Given the description of an element on the screen output the (x, y) to click on. 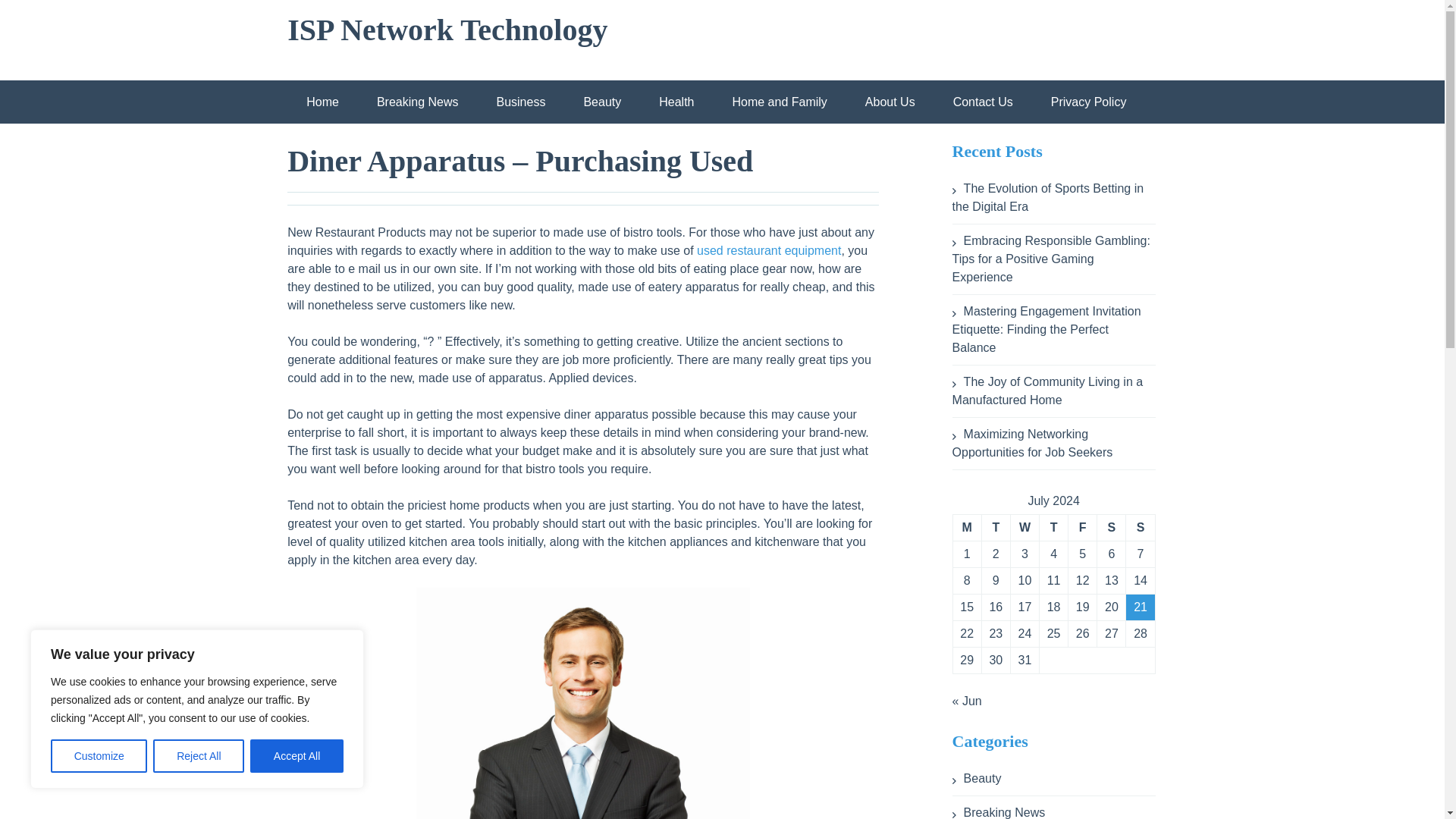
Home (322, 101)
Health (676, 101)
Reject All (198, 756)
Contact Us (983, 101)
Beauty (602, 101)
Business (520, 101)
Monday (966, 528)
The Evolution of Sports Betting in the Digital Era (1047, 196)
Thursday (1053, 528)
Privacy Policy (1088, 101)
ISP Network Technology (446, 29)
Sunday (1139, 528)
Saturday (1110, 528)
Customize (98, 756)
Breaking News (417, 101)
